Given the description of an element on the screen output the (x, y) to click on. 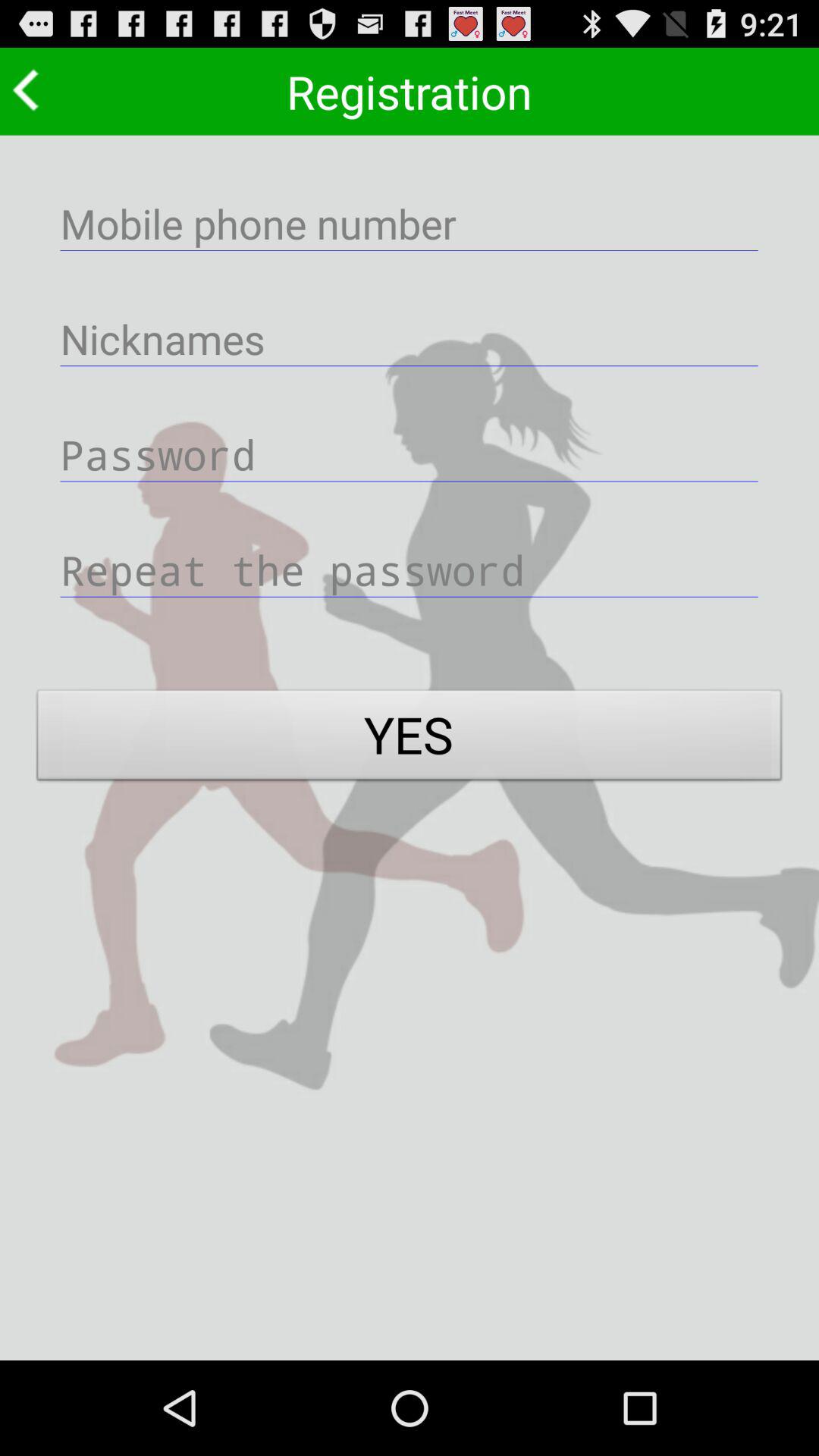
field to repeat the password (409, 569)
